Given the description of an element on the screen output the (x, y) to click on. 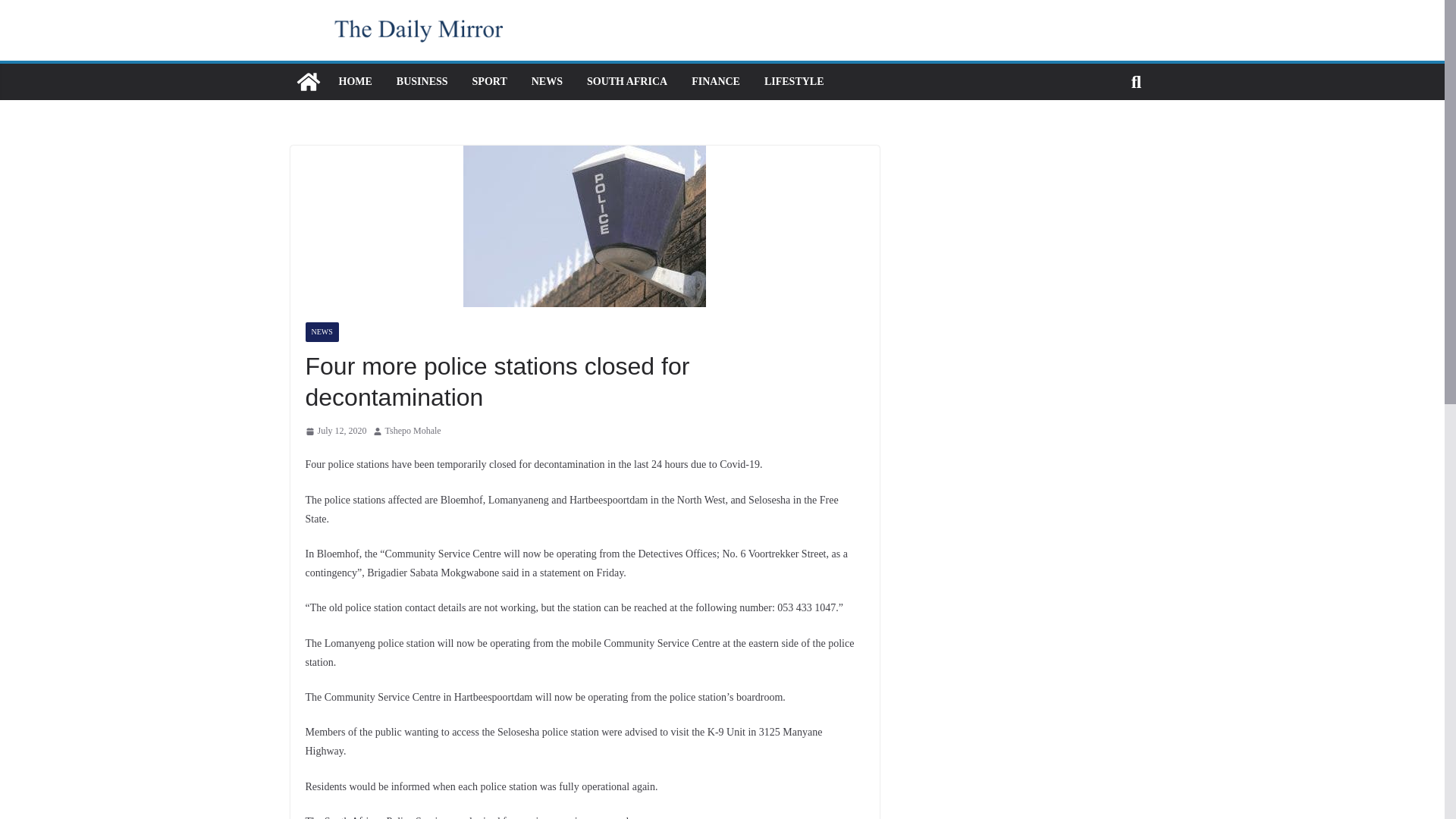
The Daily Mirror (307, 81)
Tshepo Mohale (413, 431)
July 12, 2020 (335, 431)
LIFESTYLE (794, 81)
SOUTH AFRICA (626, 81)
NEWS (320, 332)
FINANCE (715, 81)
Tshepo Mohale (413, 431)
BUSINESS (422, 81)
HOME (354, 81)
